Given the description of an element on the screen output the (x, y) to click on. 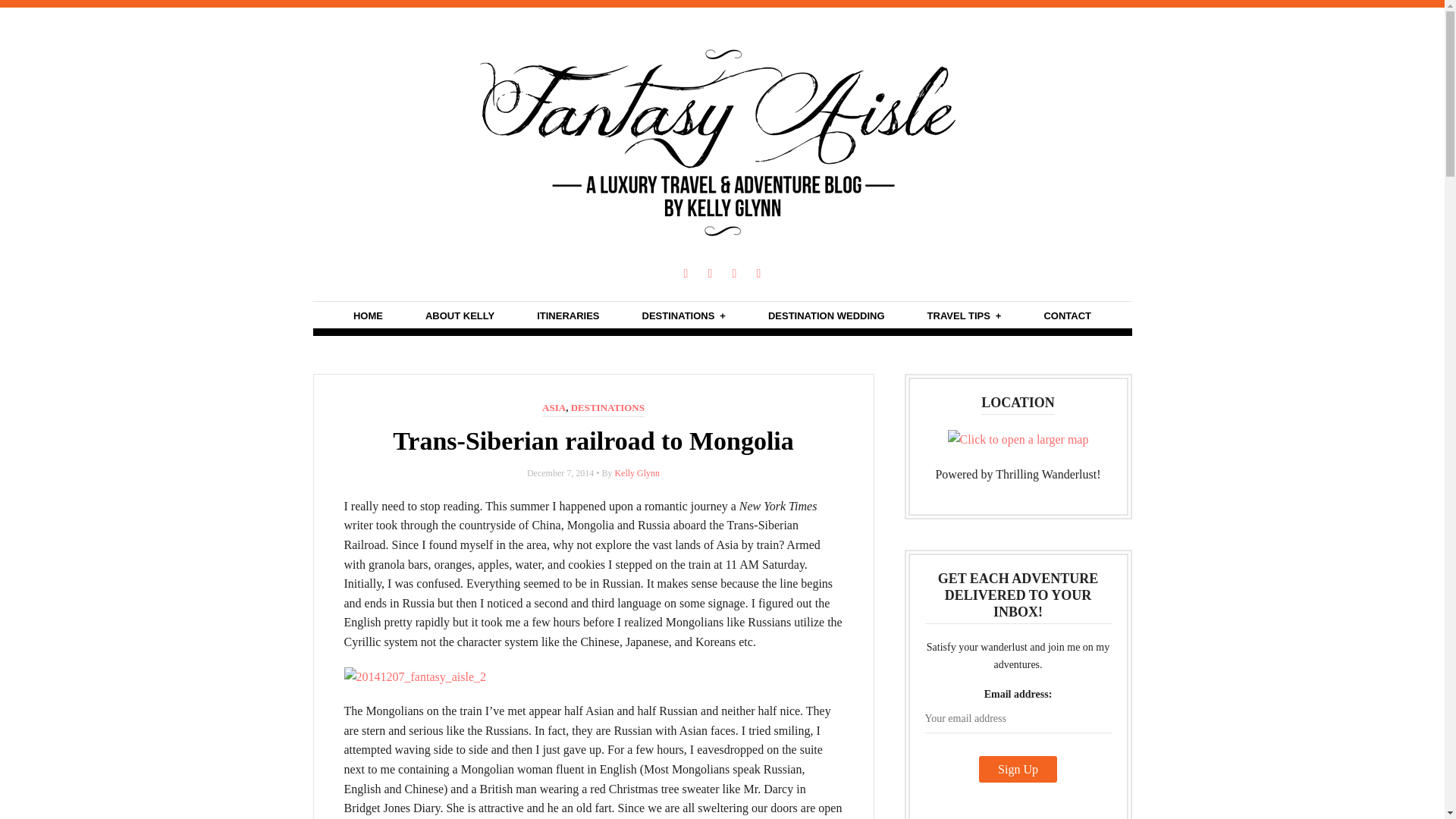
Kelly Glynn (636, 472)
Trans-Siberian railroad to Mongolia (593, 440)
DESTINATIONS (607, 407)
DESTINATION WEDDING (826, 315)
HOME (367, 315)
Posts by Kelly Glynn (636, 472)
CONTACT (1066, 315)
Sign up (1017, 768)
Click to open a larger map (1018, 439)
TRAVEL TIPS (964, 315)
